Given the description of an element on the screen output the (x, y) to click on. 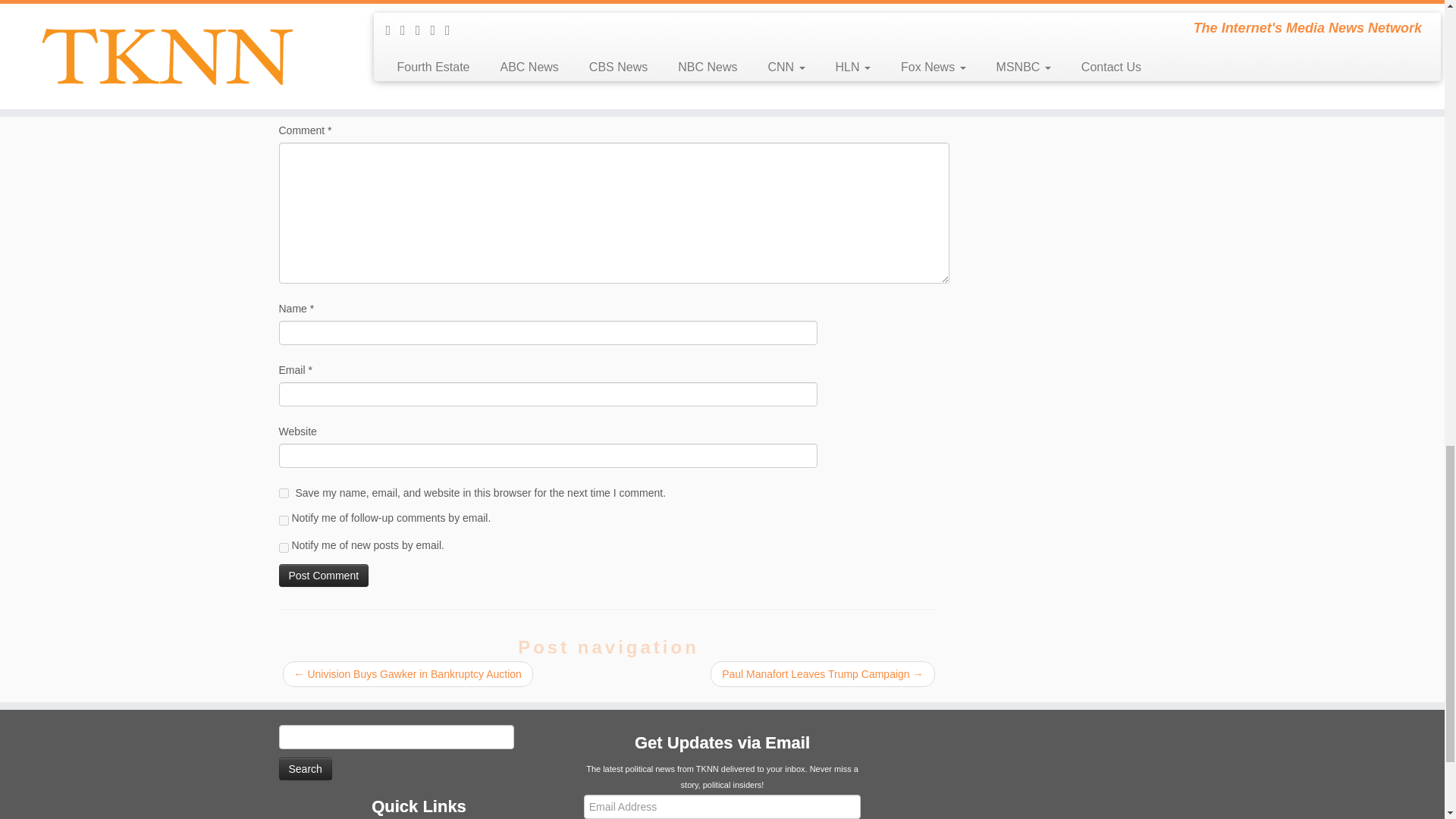
Search (305, 768)
subscribe (283, 520)
Post Comment (324, 575)
yes (283, 492)
subscribe (283, 547)
